Given the description of an element on the screen output the (x, y) to click on. 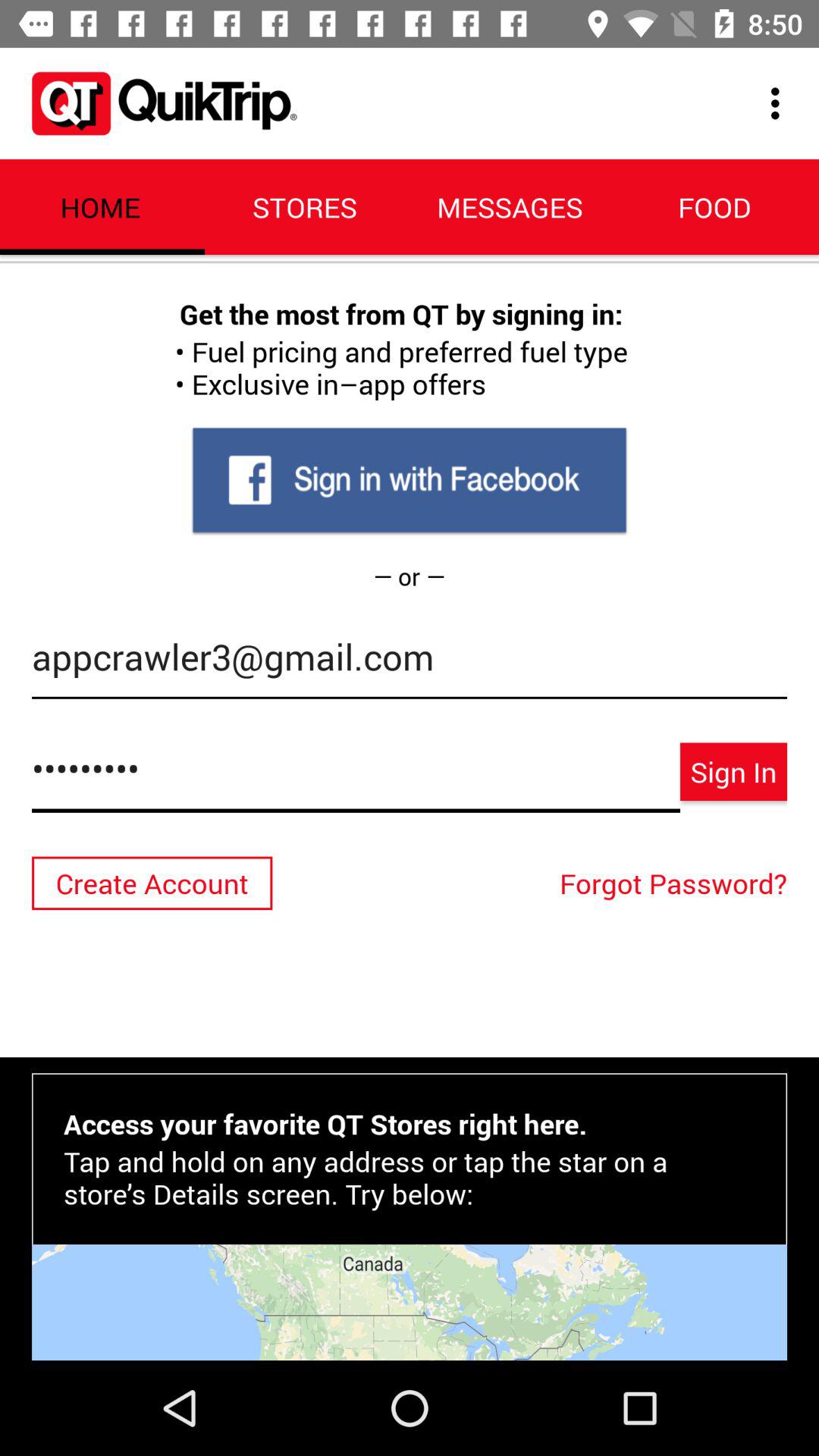
turn off icon next to the create account (677, 883)
